Given the description of an element on the screen output the (x, y) to click on. 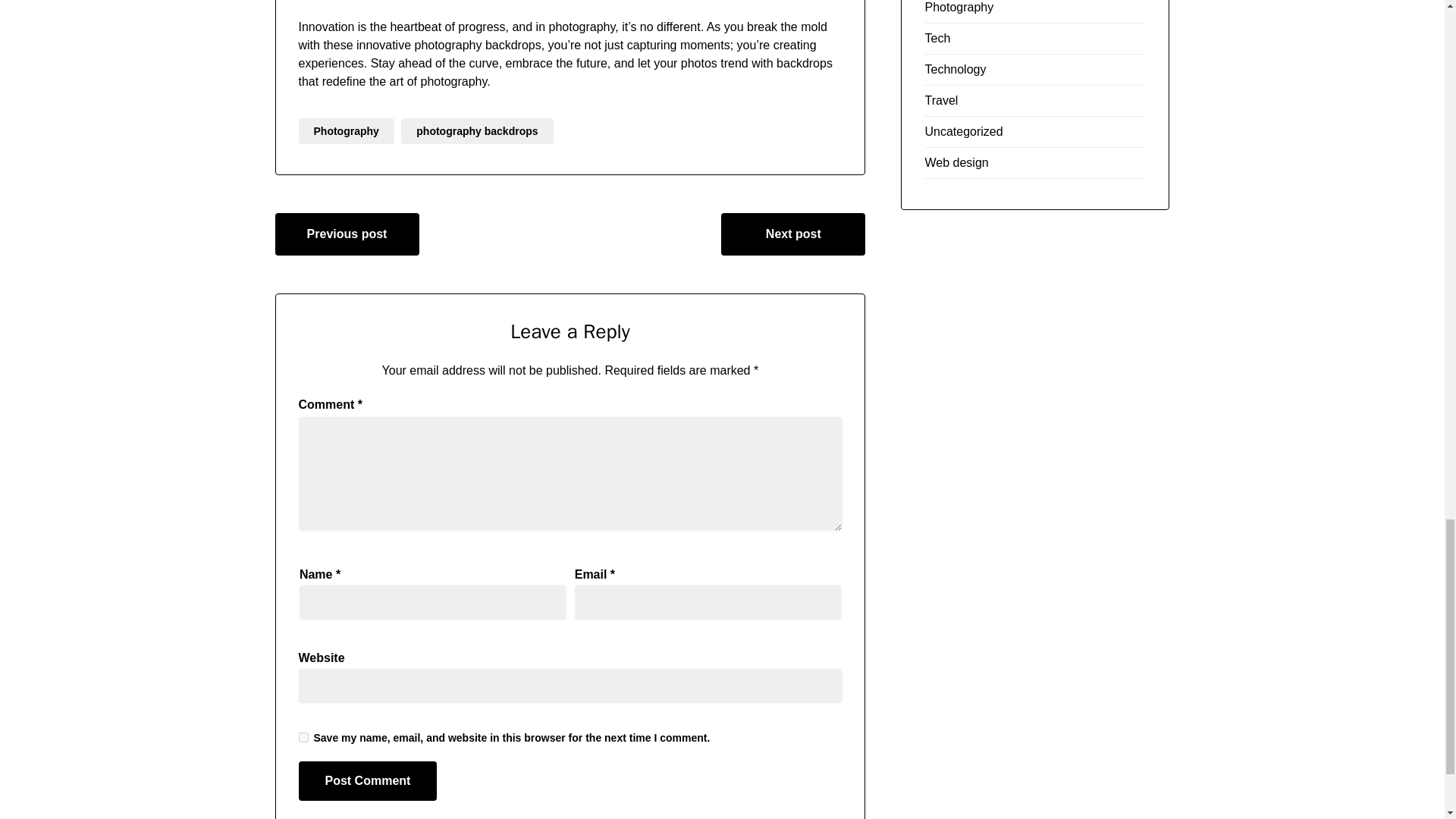
yes (303, 737)
Post Comment (368, 780)
Next post (792, 233)
Previous post (347, 233)
photography backdrops (477, 130)
Photography (346, 130)
Post Comment (368, 780)
